Given the description of an element on the screen output the (x, y) to click on. 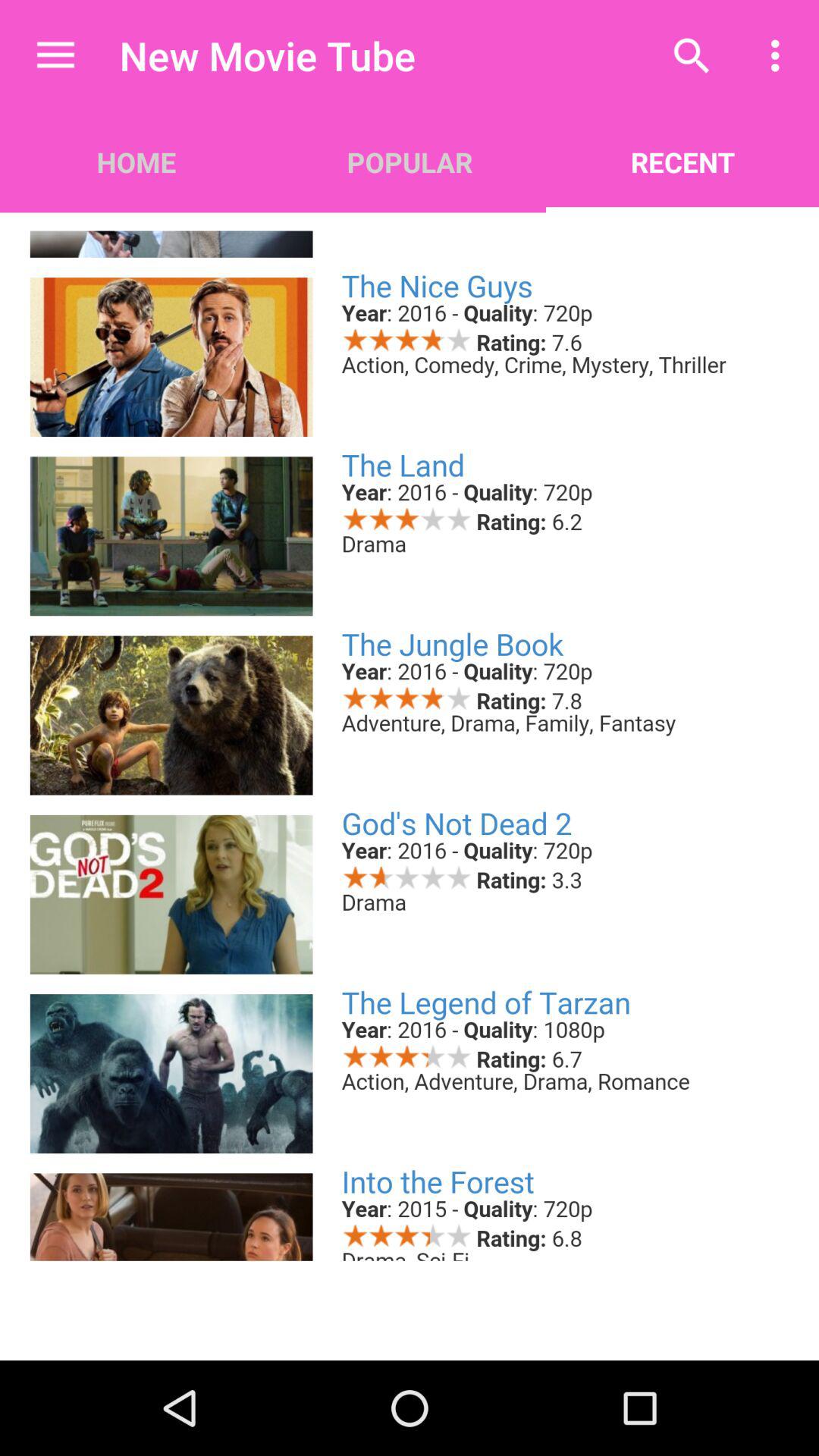
choose video to watch (409, 735)
